Given the description of an element on the screen output the (x, y) to click on. 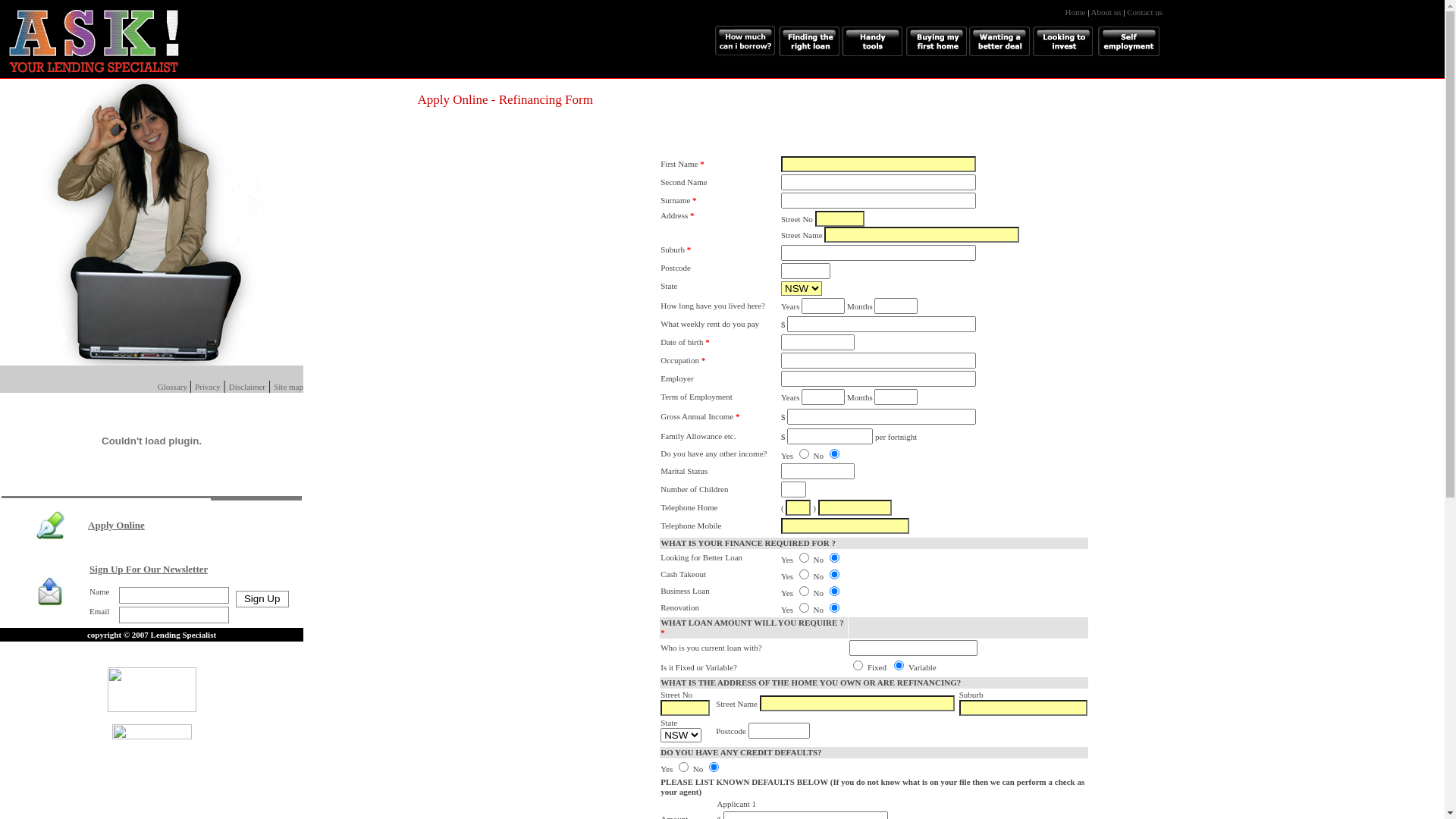
Sign Up Element type: text (261, 597)
Privacy Element type: text (207, 386)
Contact us Element type: text (1144, 16)
Home Element type: text (1113, 16)
About us Element type: text (1106, 11)
Apply Online Element type: text (115, 524)
Disclaimer Element type: text (247, 386)
Glossary Element type: text (173, 386)
Site map Element type: text (288, 386)
